Given the description of an element on the screen output the (x, y) to click on. 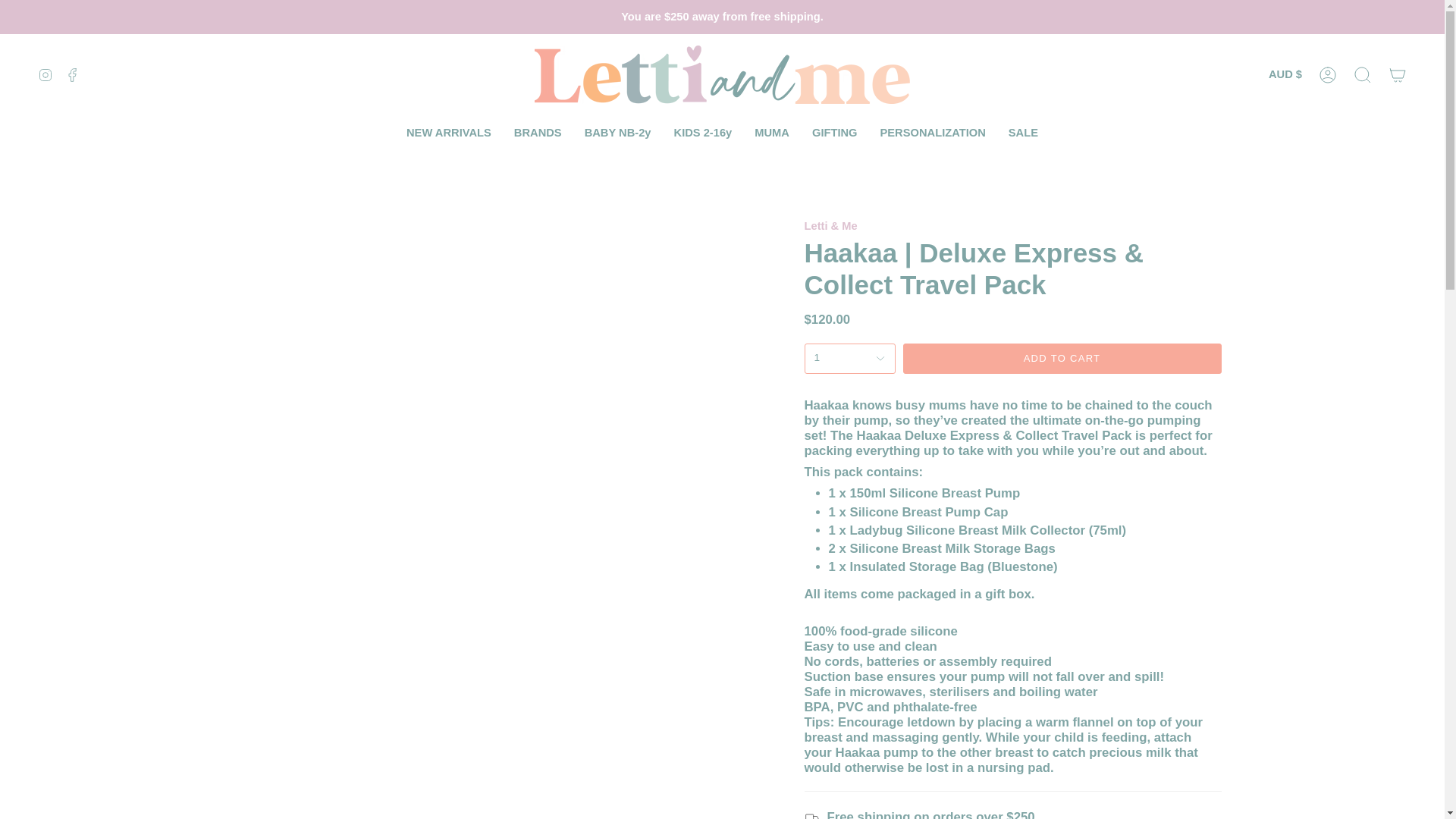
BRANDS (537, 133)
NEW ARRIVALS (448, 133)
